Given the description of an element on the screen output the (x, y) to click on. 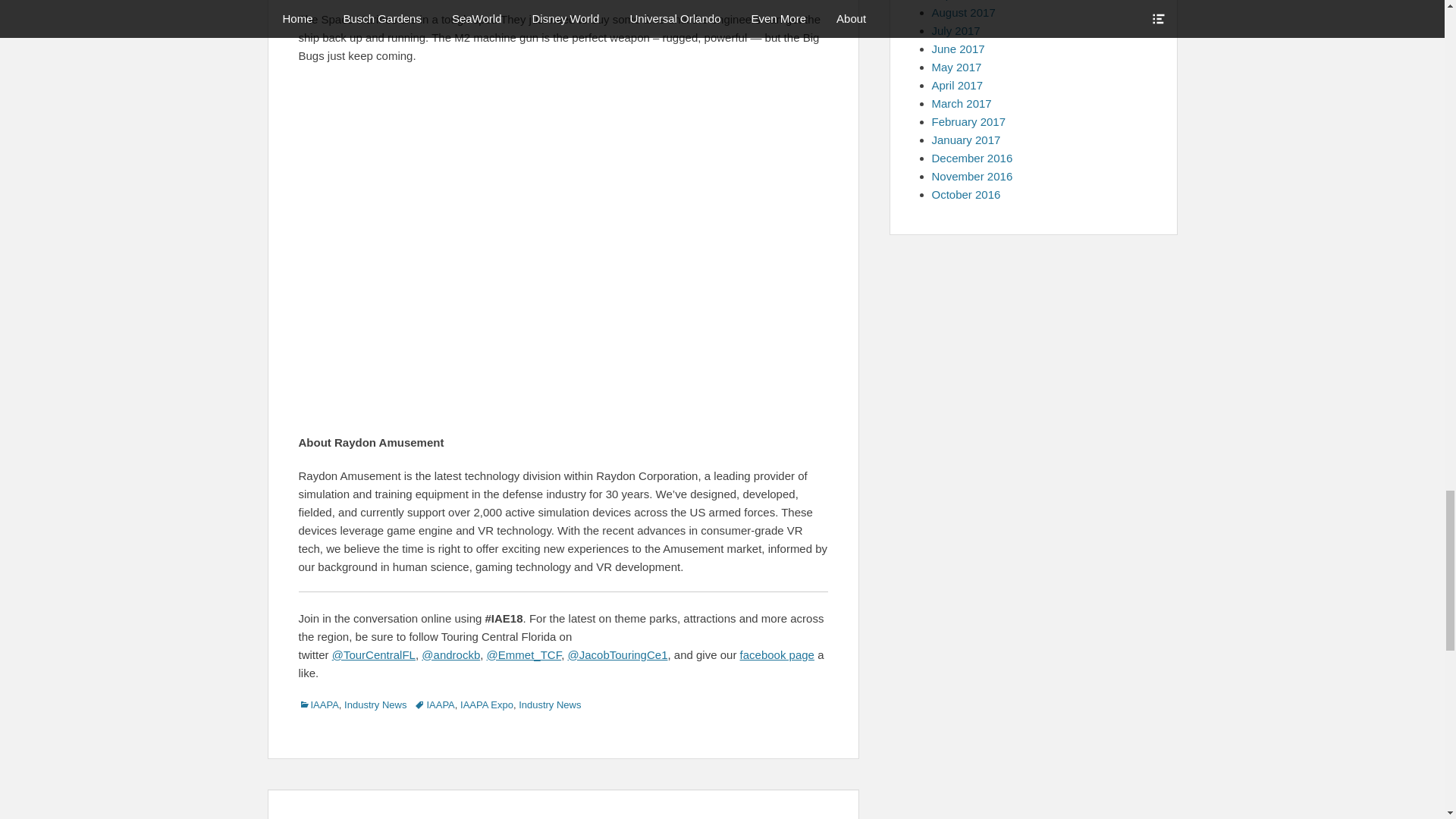
Industry News (549, 704)
IAAPA (433, 704)
IAAPA (318, 704)
IAAPA Expo (486, 704)
Industry News (374, 704)
facebook page (776, 654)
